Given the description of an element on the screen output the (x, y) to click on. 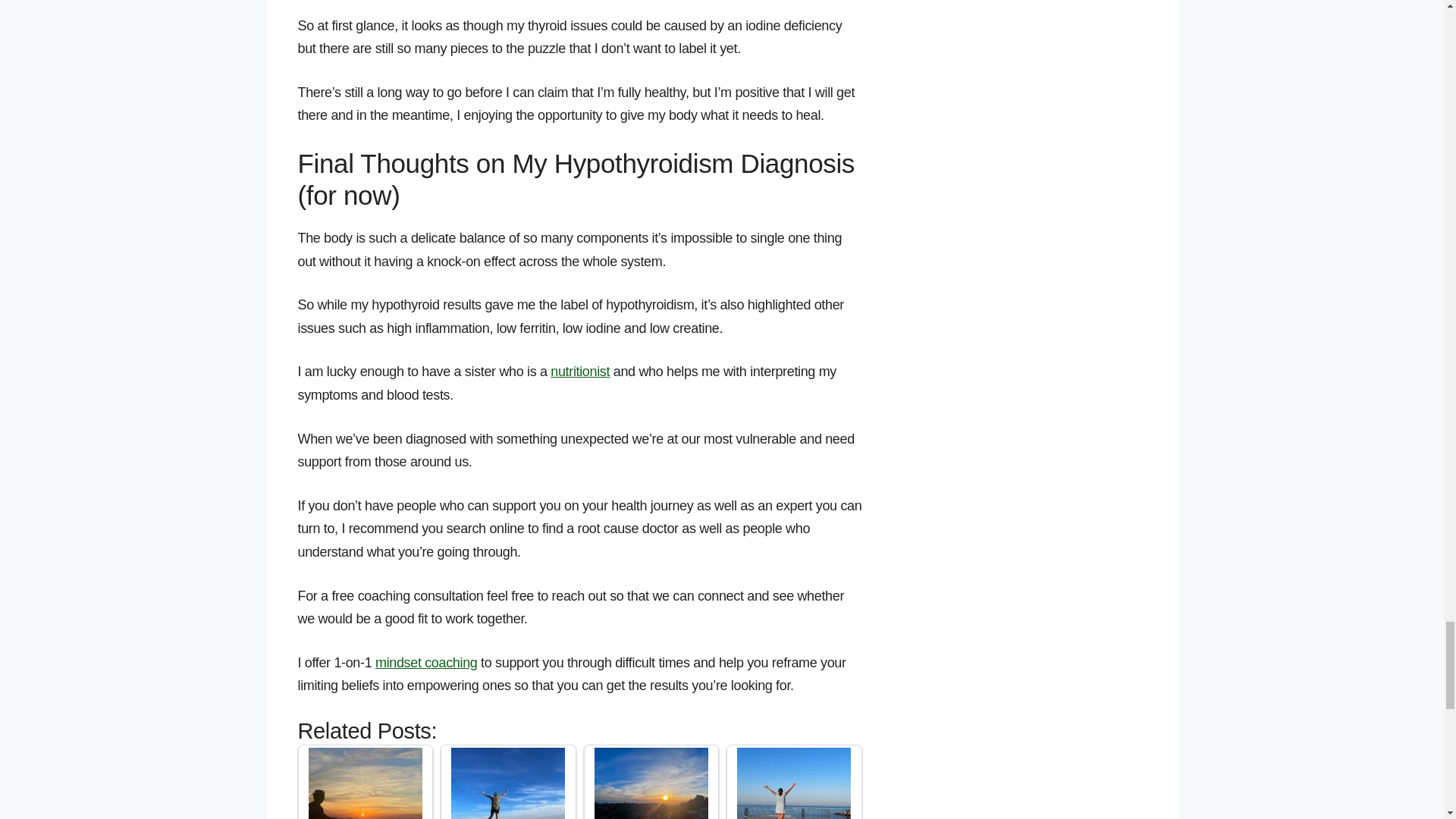
My Symptoms Before the Hypothyroidism Diagnosis (365, 783)
Mindset Coaching to Achieve Your Goals (793, 783)
